Given the description of an element on the screen output the (x, y) to click on. 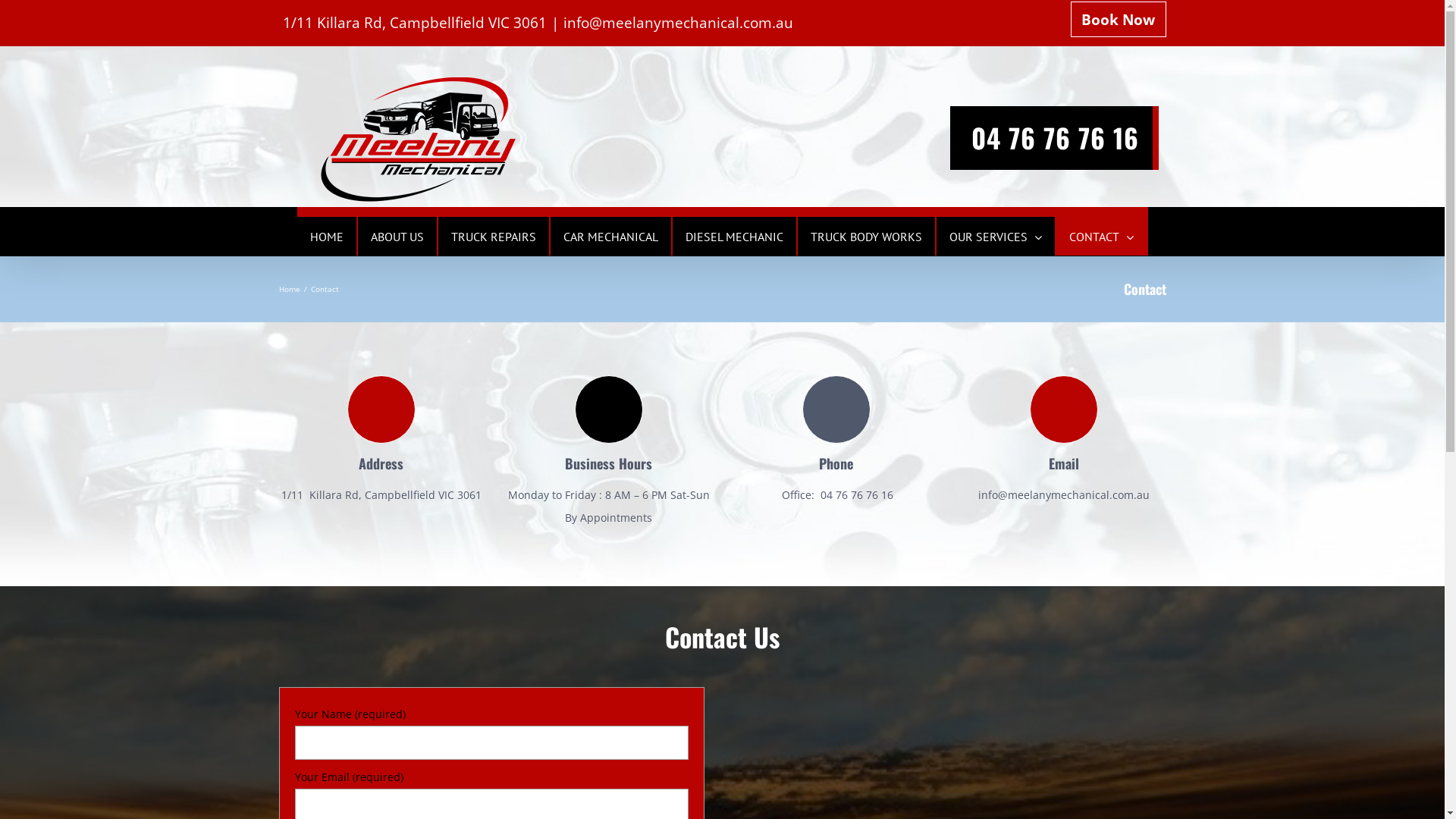
DIESEL MECHANIC Element type: text (734, 235)
CONTACT Element type: text (1101, 235)
info@meelanymechanical.com.au Element type: text (677, 22)
HOME Element type: text (325, 235)
04 76 76 76 16 Element type: text (1054, 136)
OUR SERVICES Element type: text (995, 235)
Home Element type: text (289, 288)
Book Now Element type: text (1118, 22)
CAR MECHANICAL Element type: text (609, 235)
ABOUT US Element type: text (396, 235)
TRUCK BODY WORKS Element type: text (865, 235)
TRUCK REPAIRS Element type: text (492, 235)
